Given the description of an element on the screen output the (x, y) to click on. 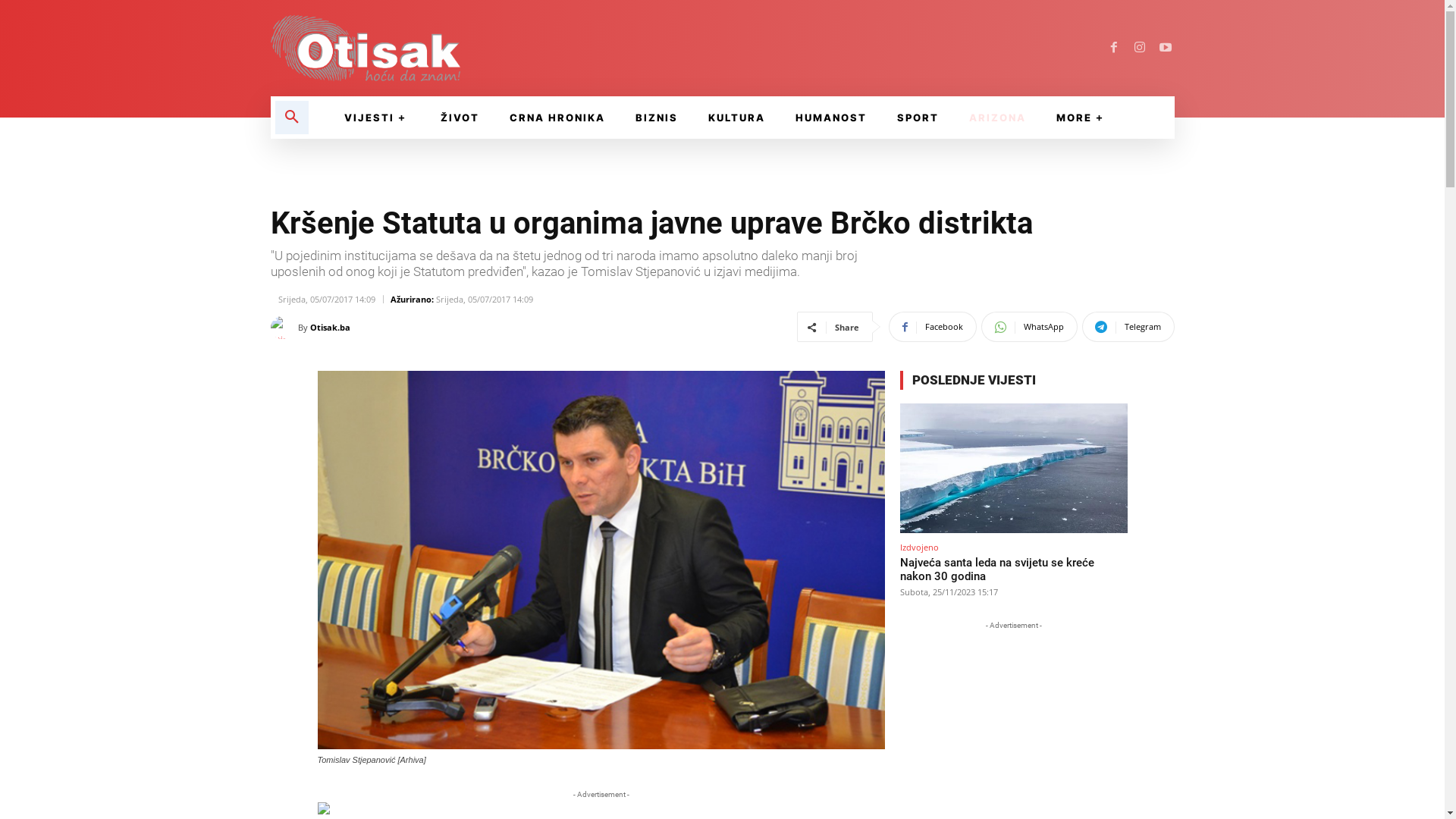
BIZNIS Element type: text (656, 117)
Youtube Element type: hover (1164, 48)
KULTURA Element type: text (736, 117)
Facebook Element type: hover (1113, 48)
Otisak.ba Element type: text (329, 327)
SPORT Element type: text (917, 117)
CRNA HRONIKA Element type: text (557, 117)
Telegram Element type: text (1127, 326)
HUMANOST Element type: text (830, 117)
WhatsApp Element type: text (1029, 326)
Instagram Element type: hover (1138, 48)
Otisak.ba Element type: hover (283, 327)
brckoadnas.com-Tomislav-Stjepanovi- Element type: hover (600, 559)
ARIZONA Element type: text (997, 117)
VIJESTI Element type: text (377, 117)
Izdvojeno Element type: text (918, 546)
Facebook Element type: text (932, 326)
